Given the description of an element on the screen output the (x, y) to click on. 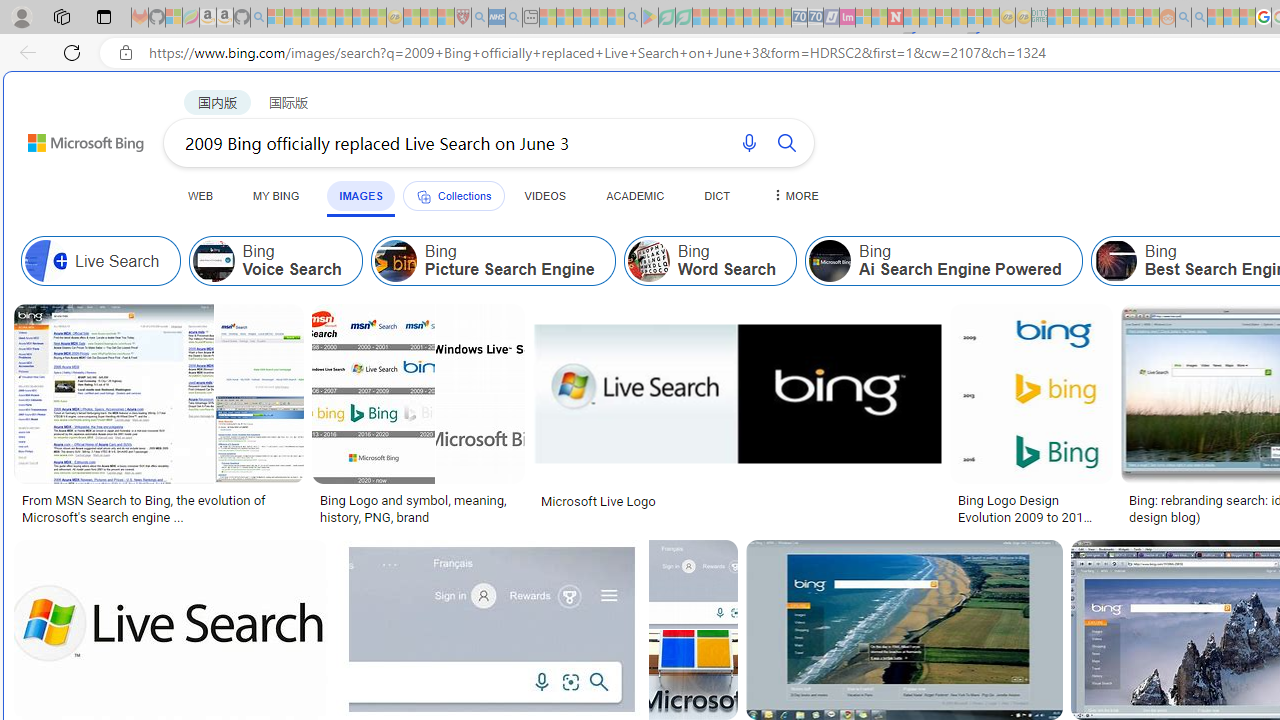
The Weather Channel - MSN - Sleeping (309, 17)
Bing Logo and symbol, meaning, history, PNG, brandSave (422, 417)
Bluey: Let's Play! - Apps on Google Play - Sleeping (649, 17)
Utah sues federal government - Search - Sleeping (1199, 17)
